Given the description of an element on the screen output the (x, y) to click on. 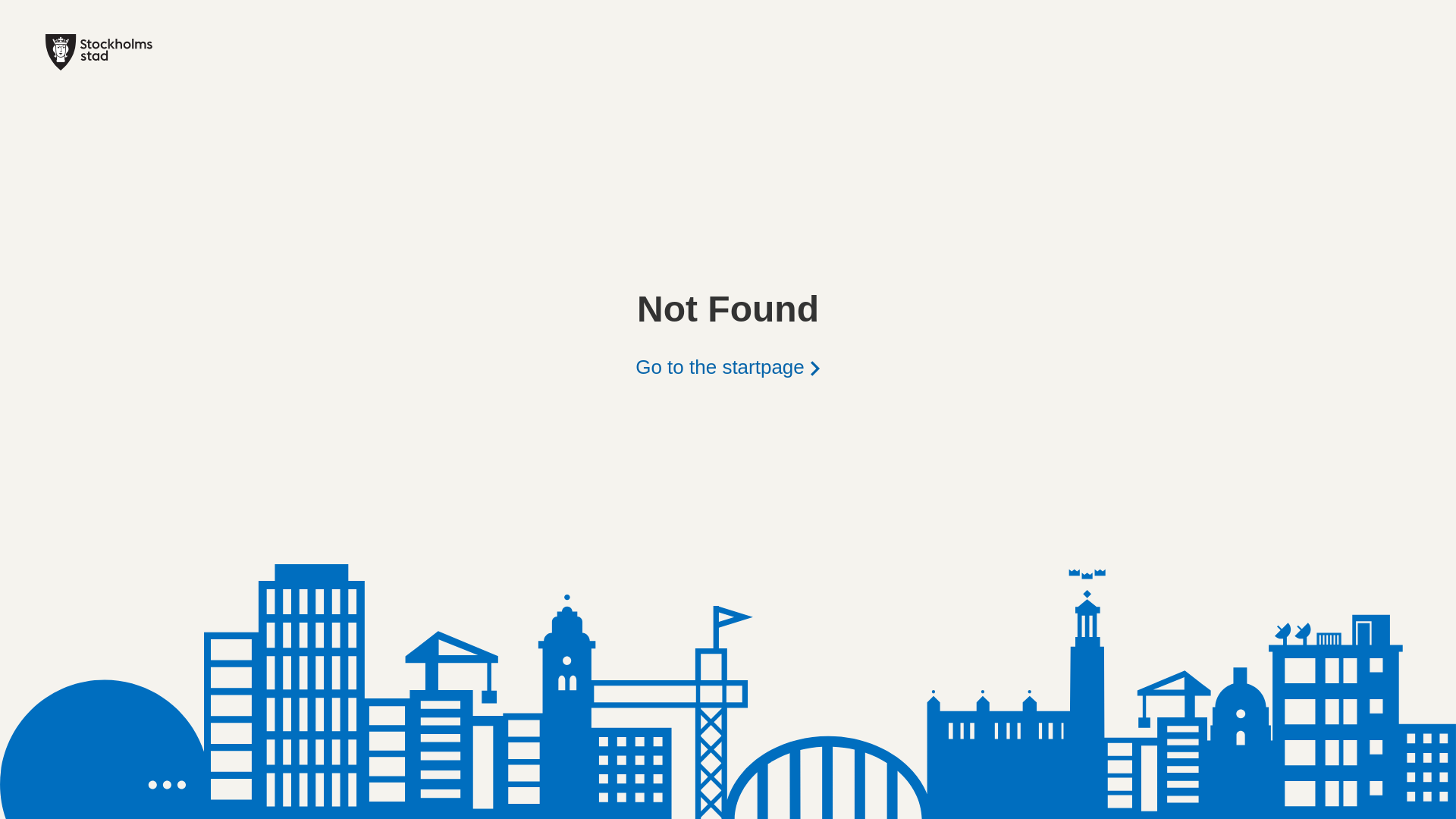
City of Stockholm, go to the startpage. (98, 52)
Go to the startpage (727, 366)
City of Stockholm, go to the startpage. (98, 65)
